Given the description of an element on the screen output the (x, y) to click on. 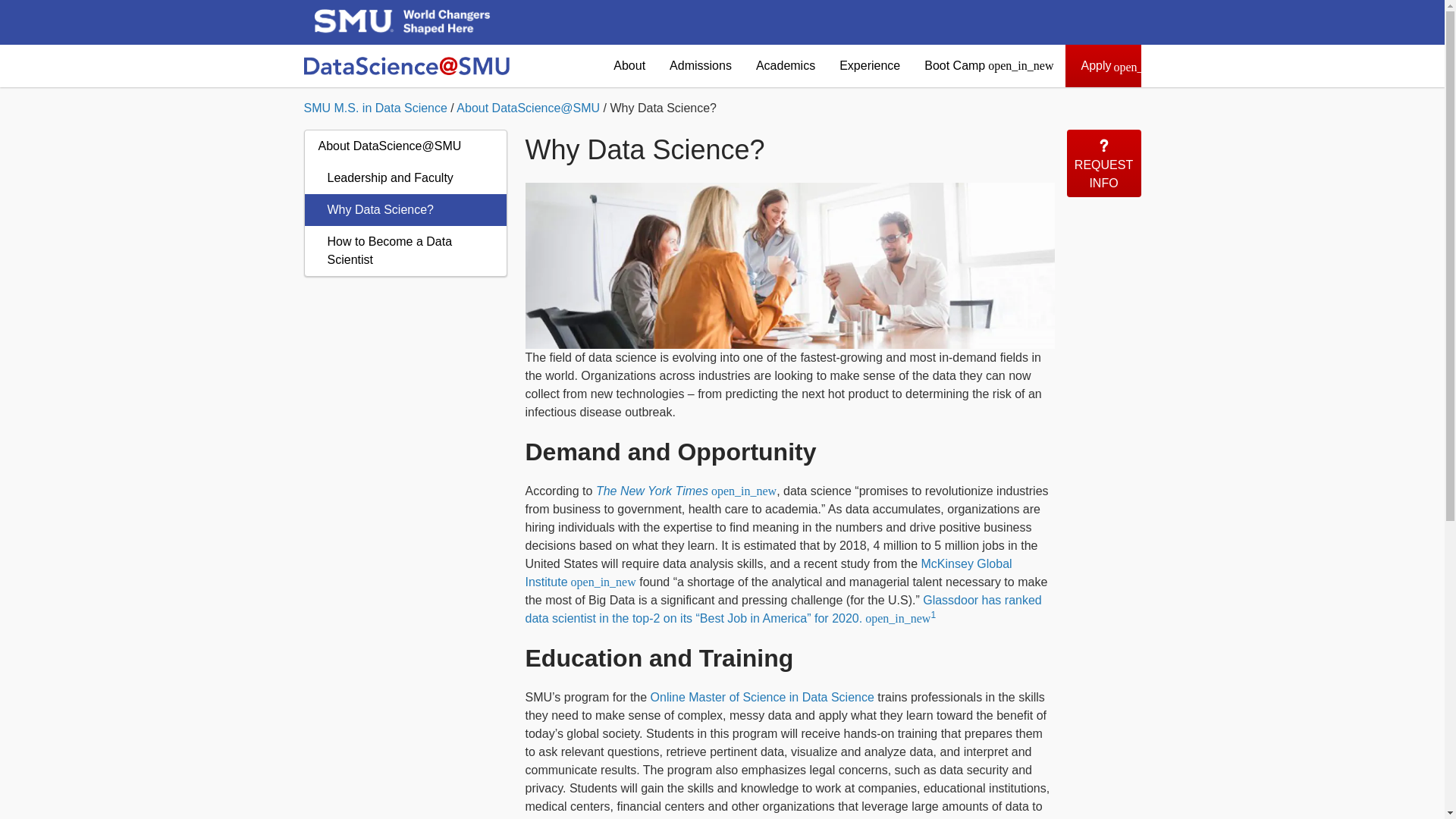
How to Become a Data Scientist (405, 251)
Why Data Science? (405, 210)
About (629, 65)
Admissions (701, 65)
Leadership and Faculty (405, 178)
Online Master of Science in Data Science (762, 697)
Academics (785, 65)
SMU M.S. in Data Science (374, 107)
Experience (869, 65)
